Given the description of an element on the screen output the (x, y) to click on. 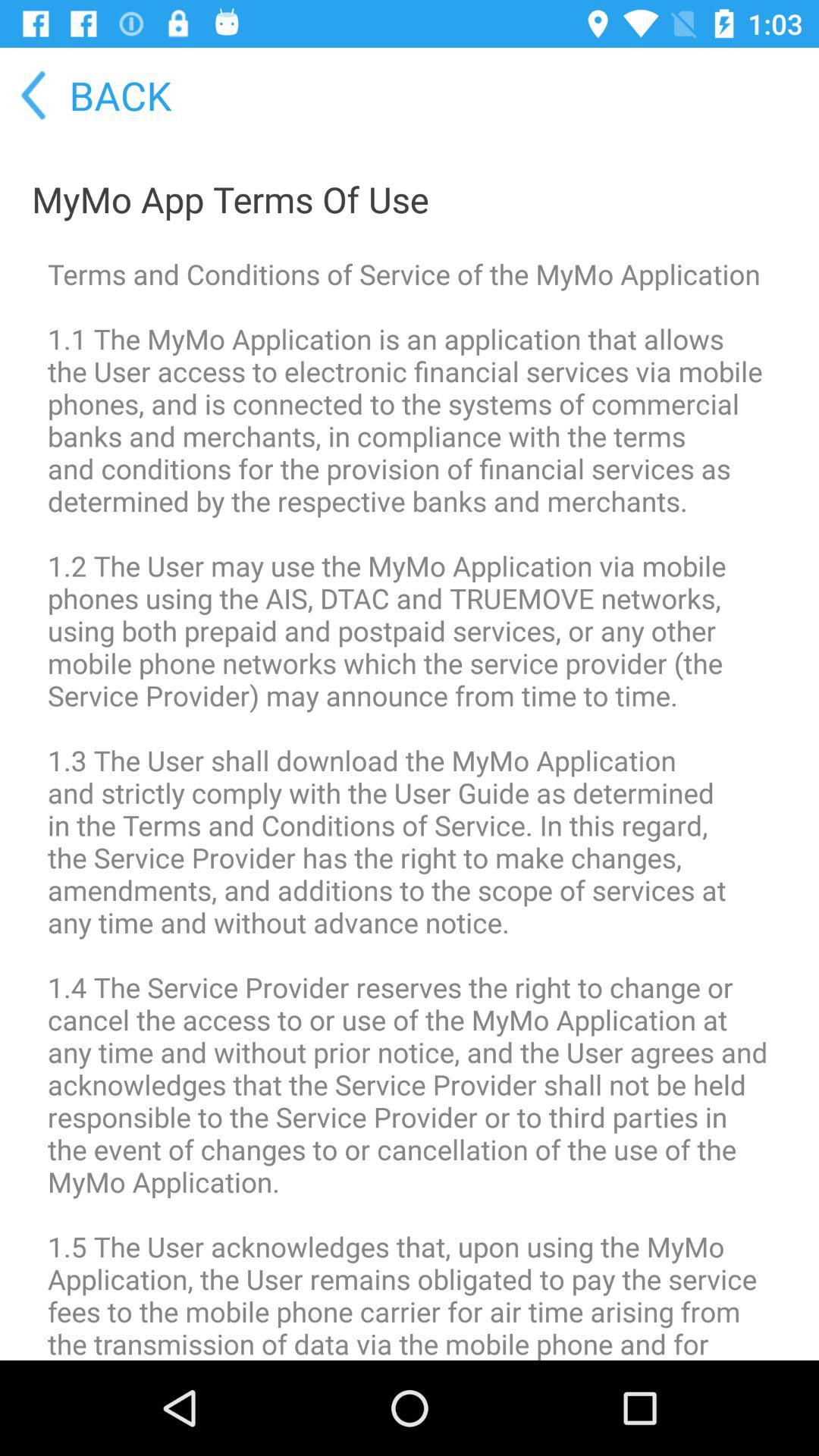
turn on the back icon (87, 95)
